Given the description of an element on the screen output the (x, y) to click on. 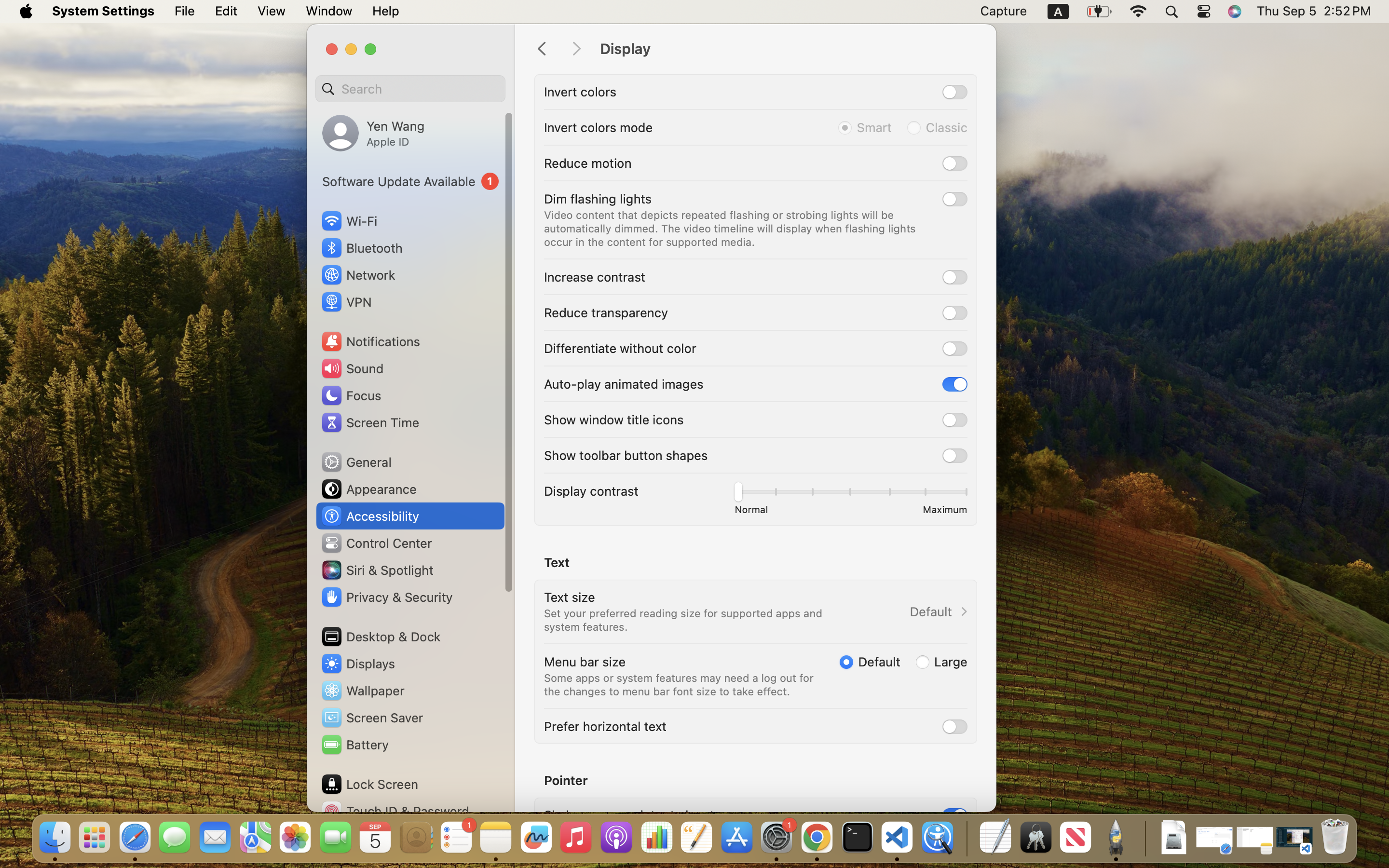
Siri & Spotlight Element type: AXStaticText (376, 569)
VPN Element type: AXStaticText (345, 301)
Prefer horizontal text Element type: AXStaticText (605, 725)
Displays Element type: AXStaticText (357, 663)
Reduce motion Element type: AXStaticText (587, 162)
